Given the description of an element on the screen output the (x, y) to click on. 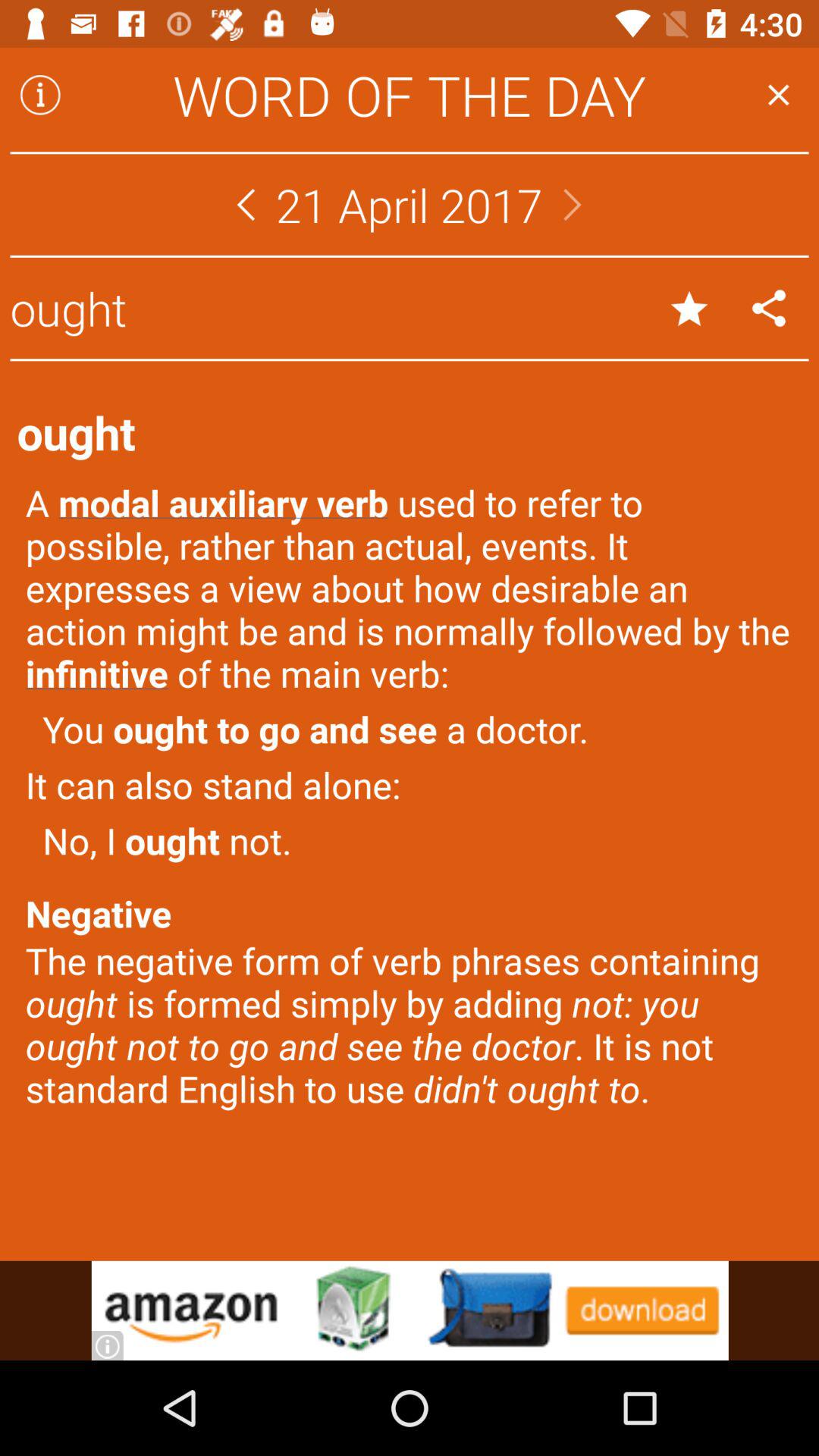
share (768, 307)
